Given the description of an element on the screen output the (x, y) to click on. 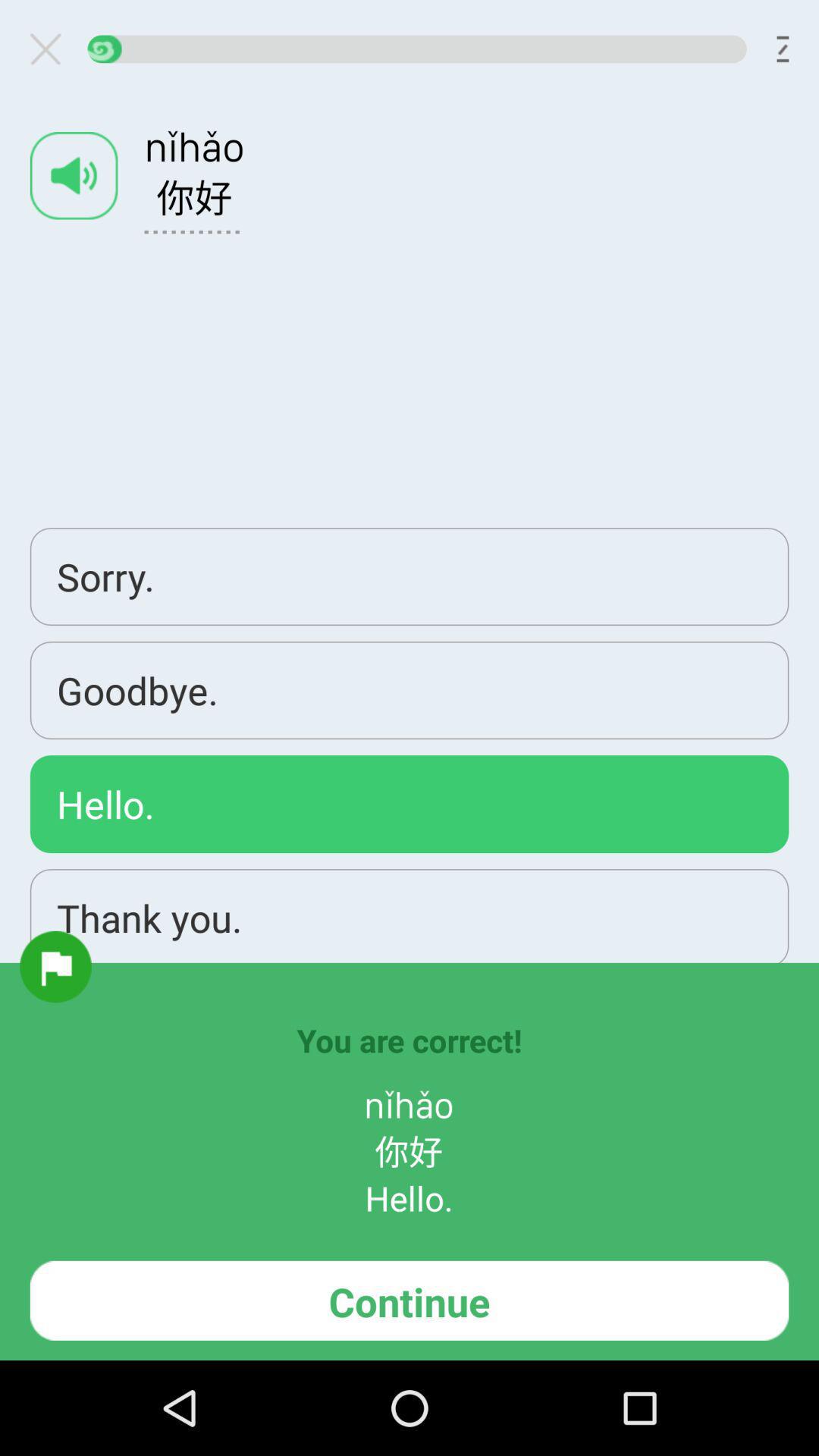
select continue icon (409, 1300)
